Given the description of an element on the screen output the (x, y) to click on. 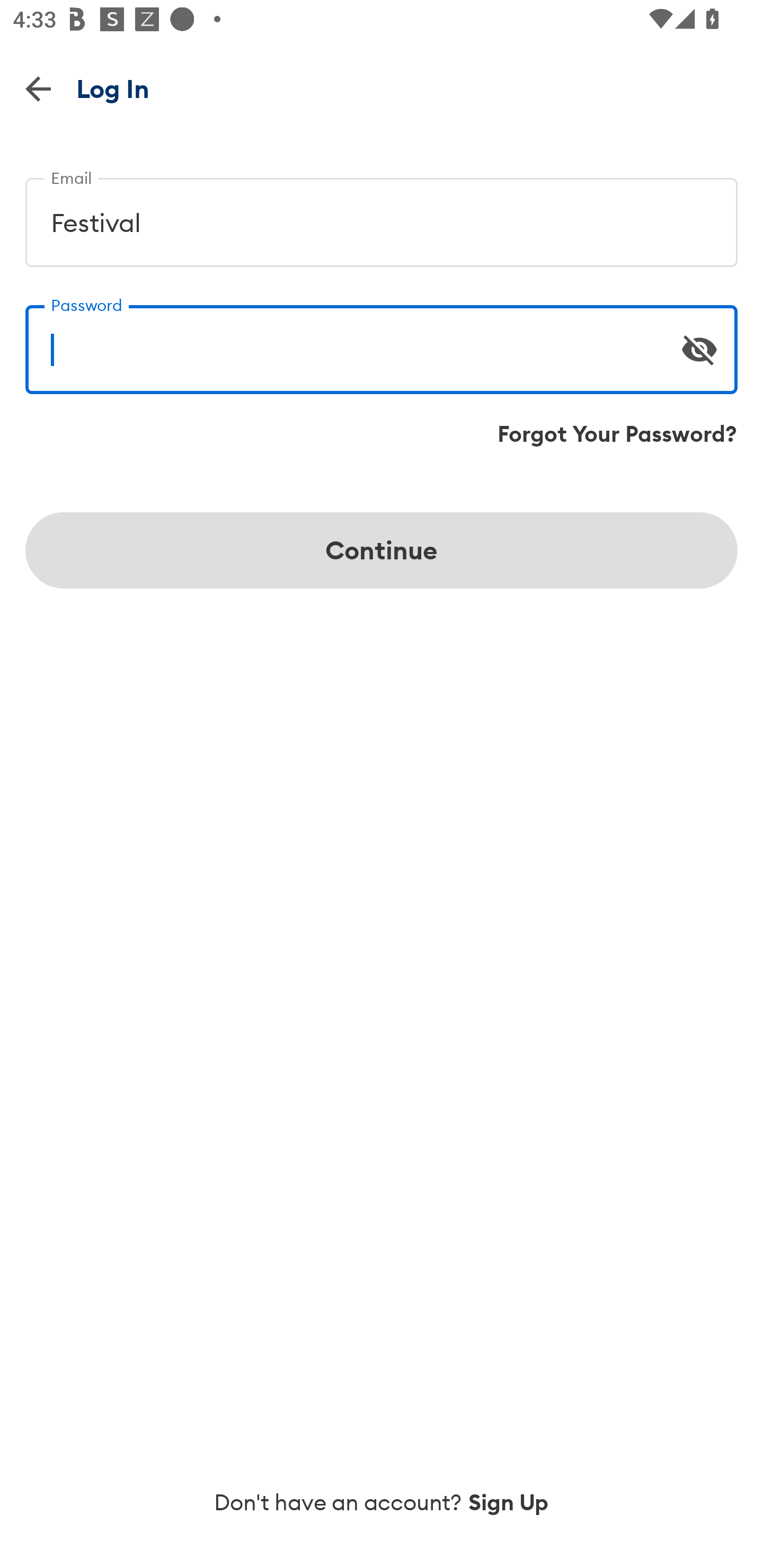
Back (38, 88)
Festival Email (381, 215)
Password (381, 342)
Forgot Your Password? (617, 433)
Continue (381, 550)
Sign Up (508, 1502)
